Given the description of an element on the screen output the (x, y) to click on. 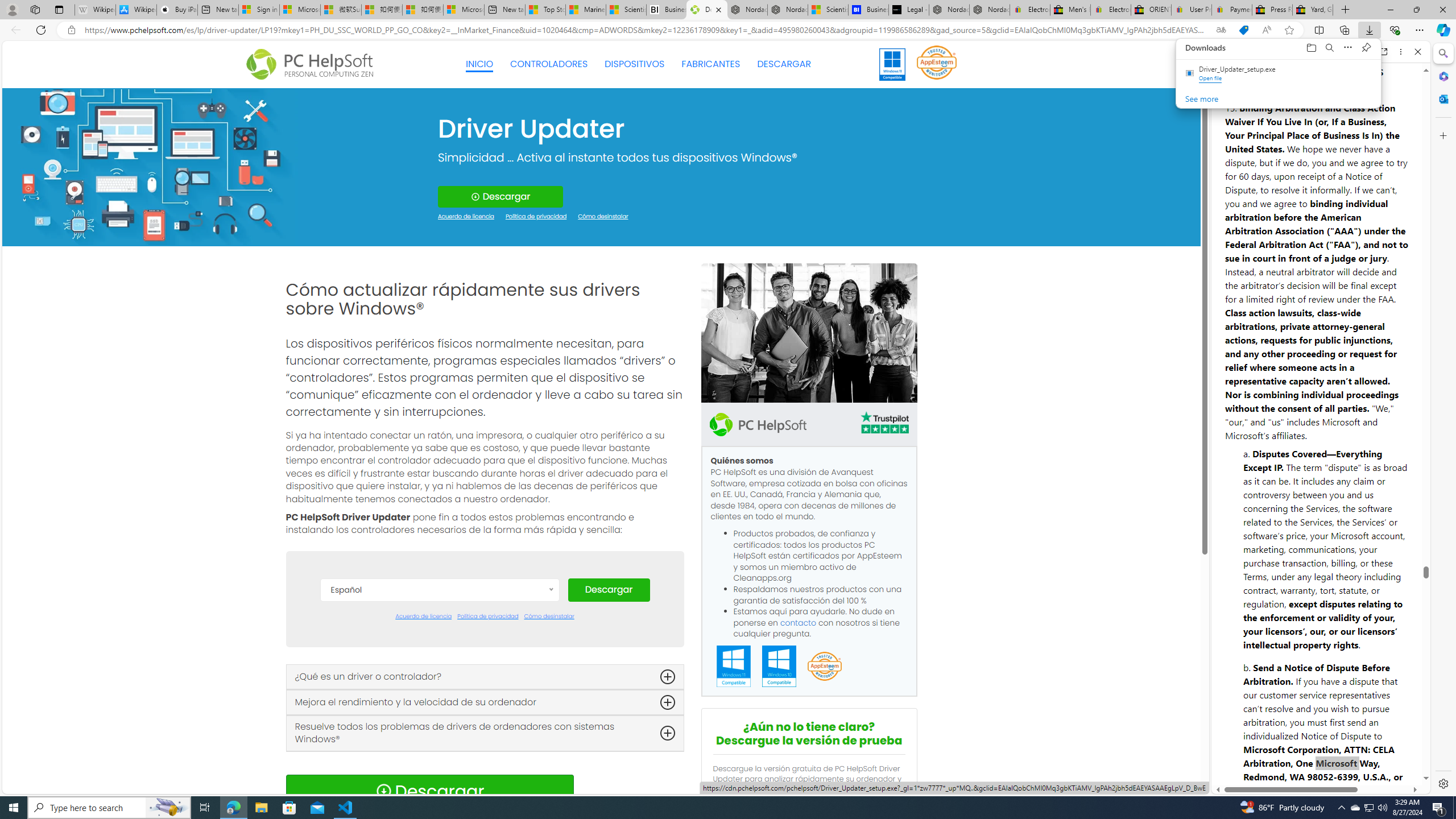
Driver_Updater_setup.exe, Open file completed download item (1277, 73)
Download Icon (383, 791)
TrustPilot (884, 422)
CONTROLADORES (548, 64)
